Given the description of an element on the screen output the (x, y) to click on. 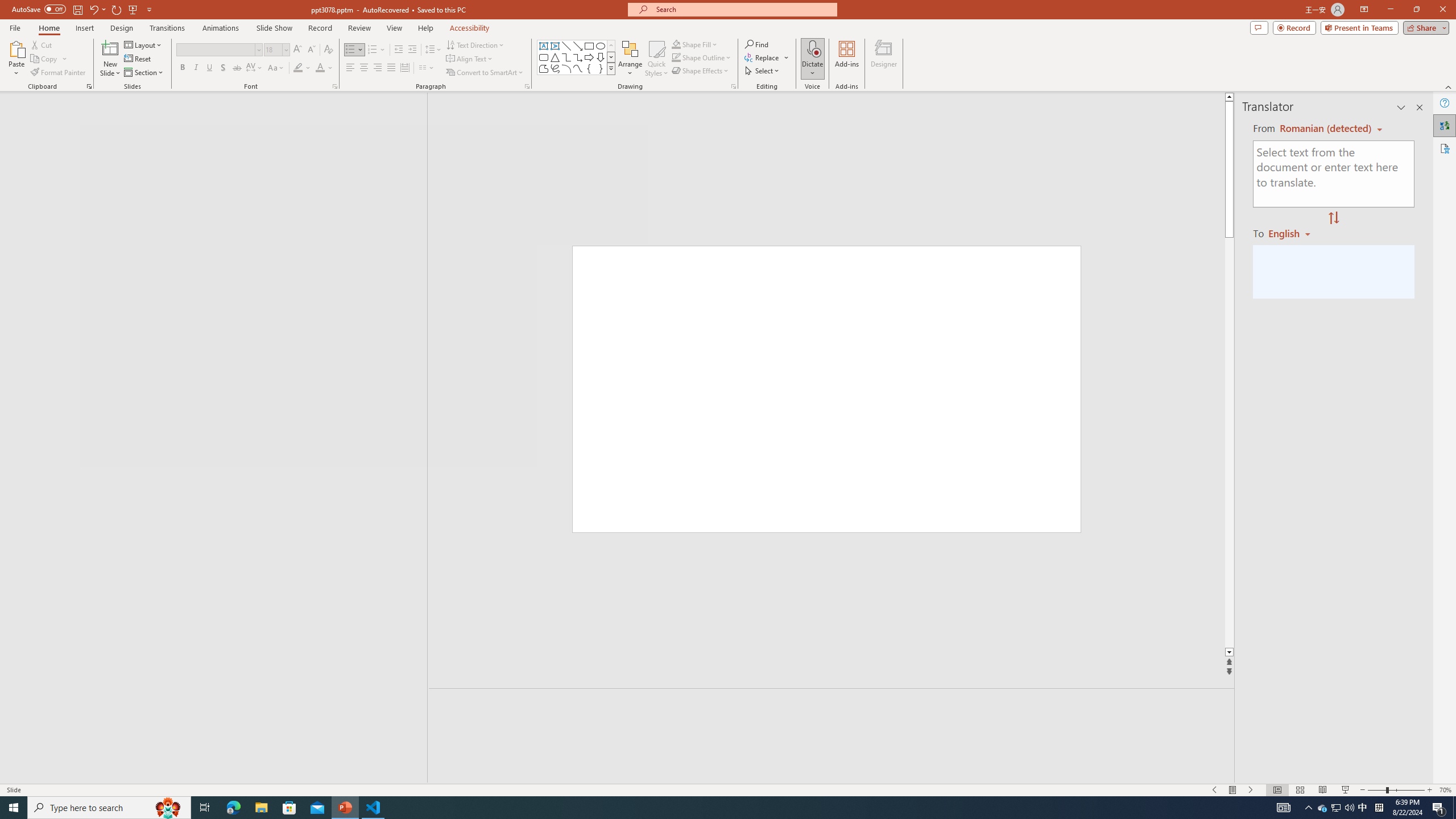
New Slide (110, 48)
Dictate (812, 58)
AutomationID: ShapesInsertGallery (576, 57)
Review (359, 28)
Align Left (349, 67)
Romanian (1293, 232)
Reading View (1322, 790)
Zoom 70% (1445, 790)
From Beginning (133, 9)
Ribbon Display Options (1364, 9)
Align Right (377, 67)
Text Direction (476, 44)
Rectangle (208, 437)
Collapse the Ribbon (1448, 86)
Open (285, 49)
